Given the description of an element on the screen output the (x, y) to click on. 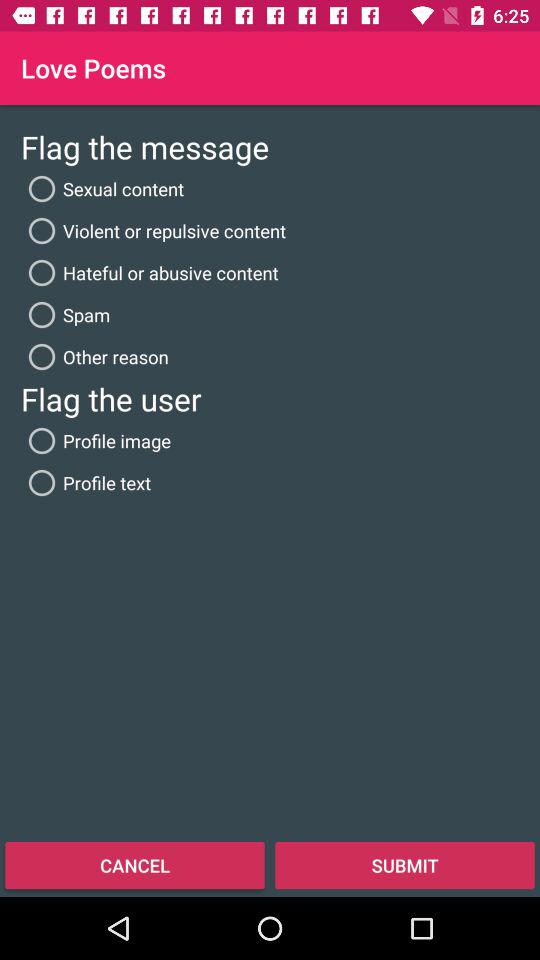
jump until the violent or repulsive icon (153, 230)
